Given the description of an element on the screen output the (x, y) to click on. 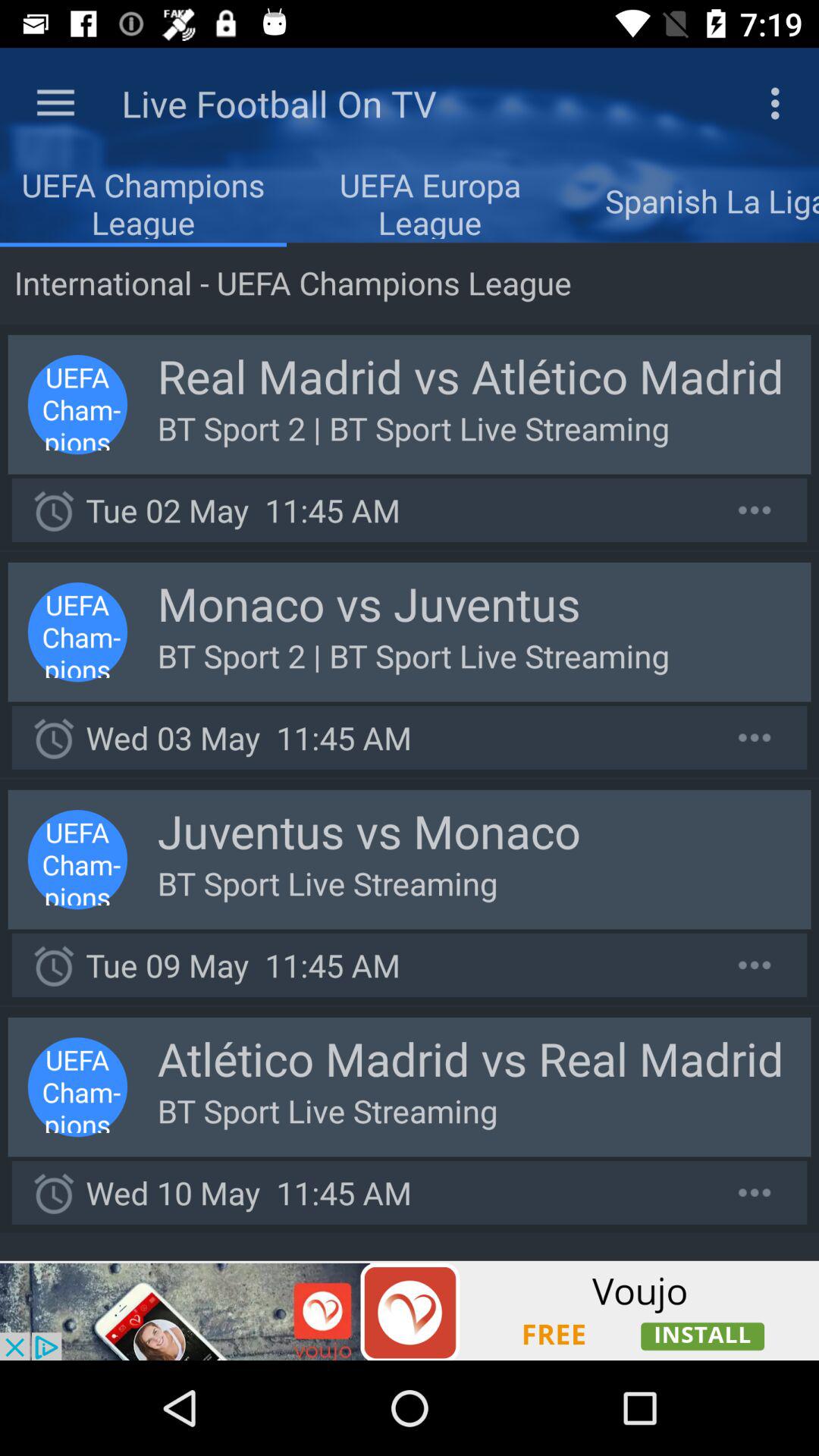
advertisement (409, 1310)
